Given the description of an element on the screen output the (x, y) to click on. 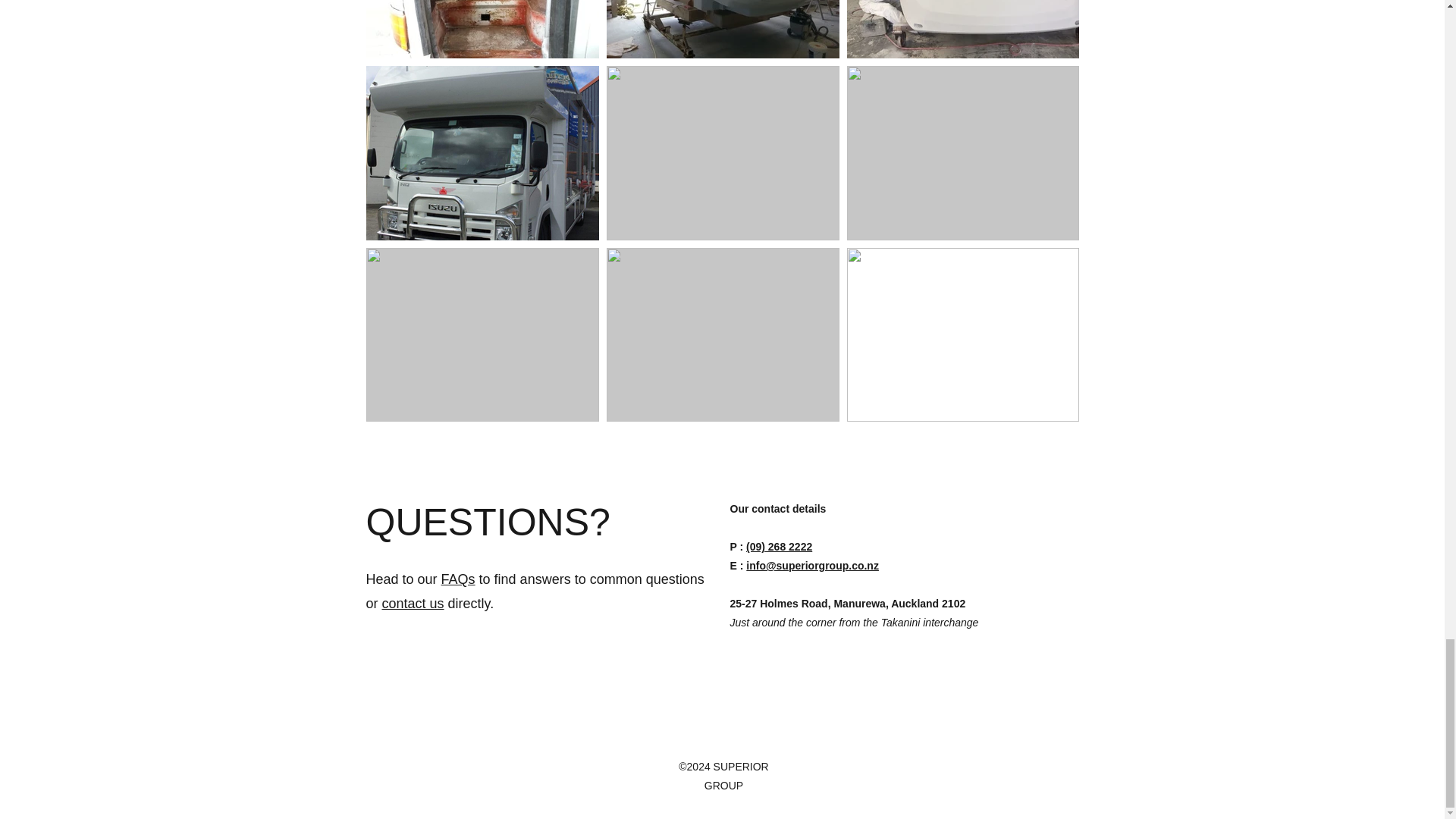
FAQs (458, 579)
contact us (412, 603)
